Given the description of an element on the screen output the (x, y) to click on. 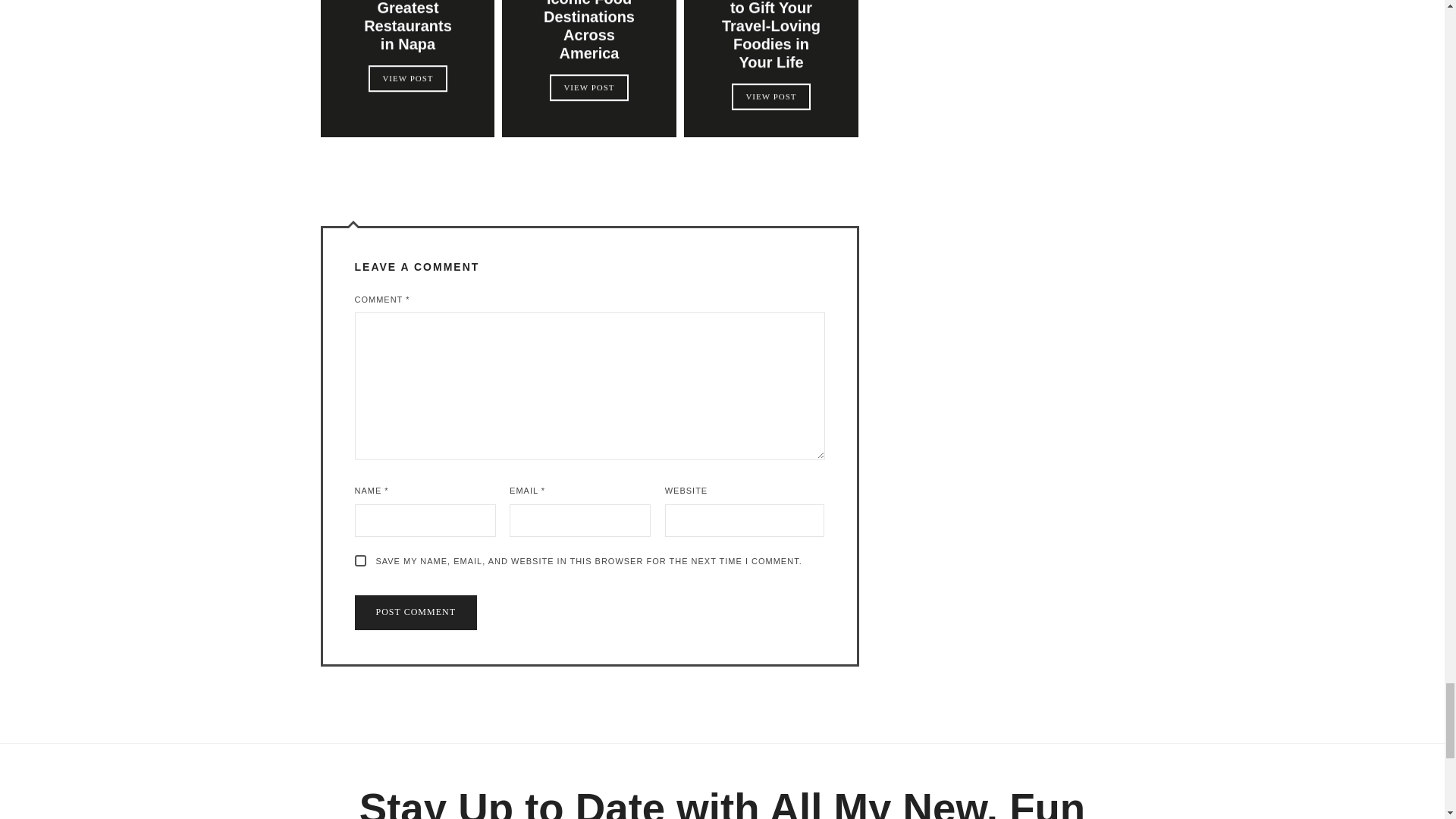
Post Comment (416, 612)
yes (360, 560)
